Given the description of an element on the screen output the (x, y) to click on. 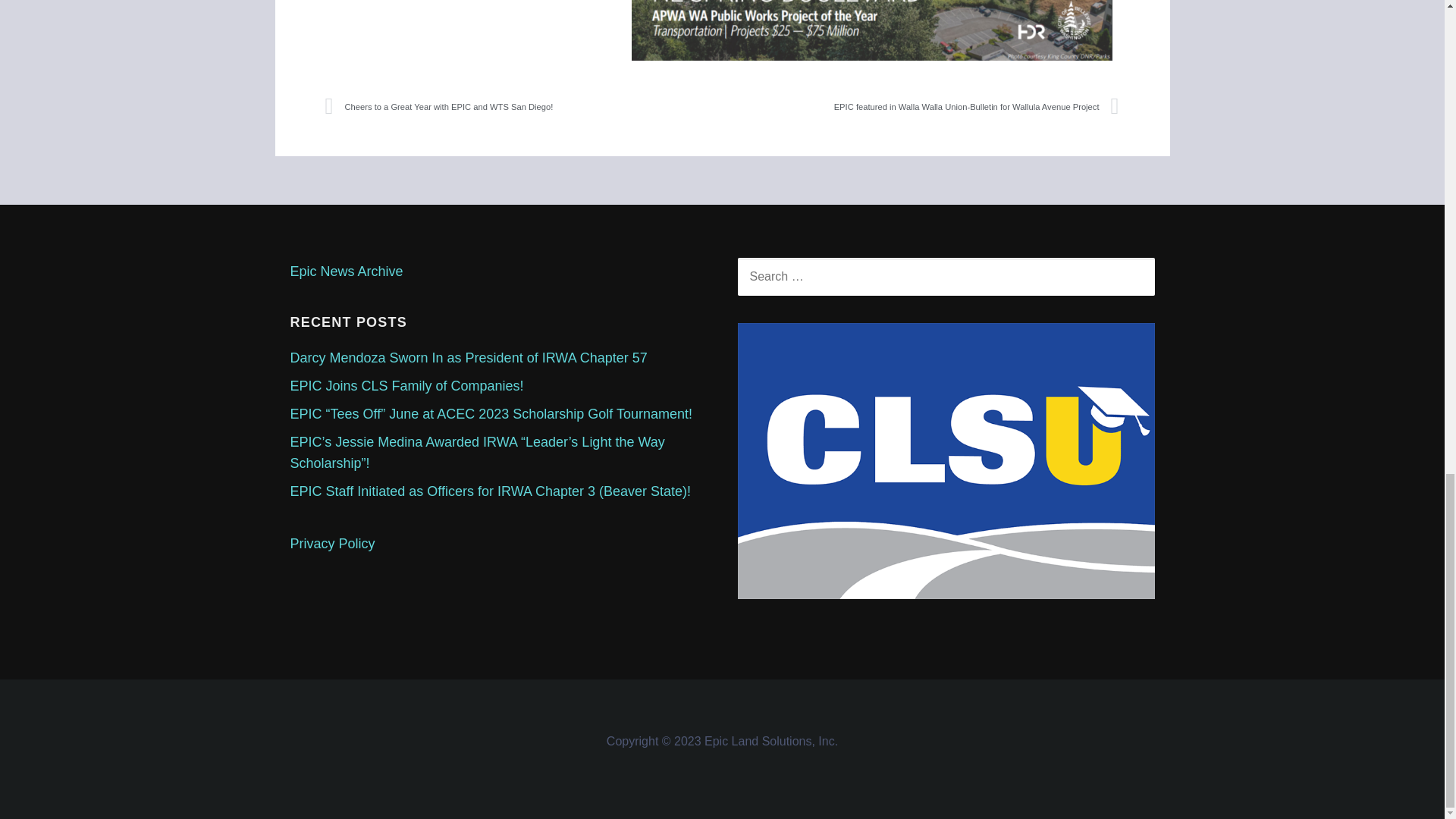
Privacy Policy (331, 543)
Cheers to a Great Year with EPIC and WTS San Diego! (523, 106)
EPIC Joins CLS Family of Companies! (405, 385)
Darcy Mendoza Sworn In as President of IRWA Chapter 57 (467, 357)
Epic News Archive (346, 271)
